Given the description of an element on the screen output the (x, y) to click on. 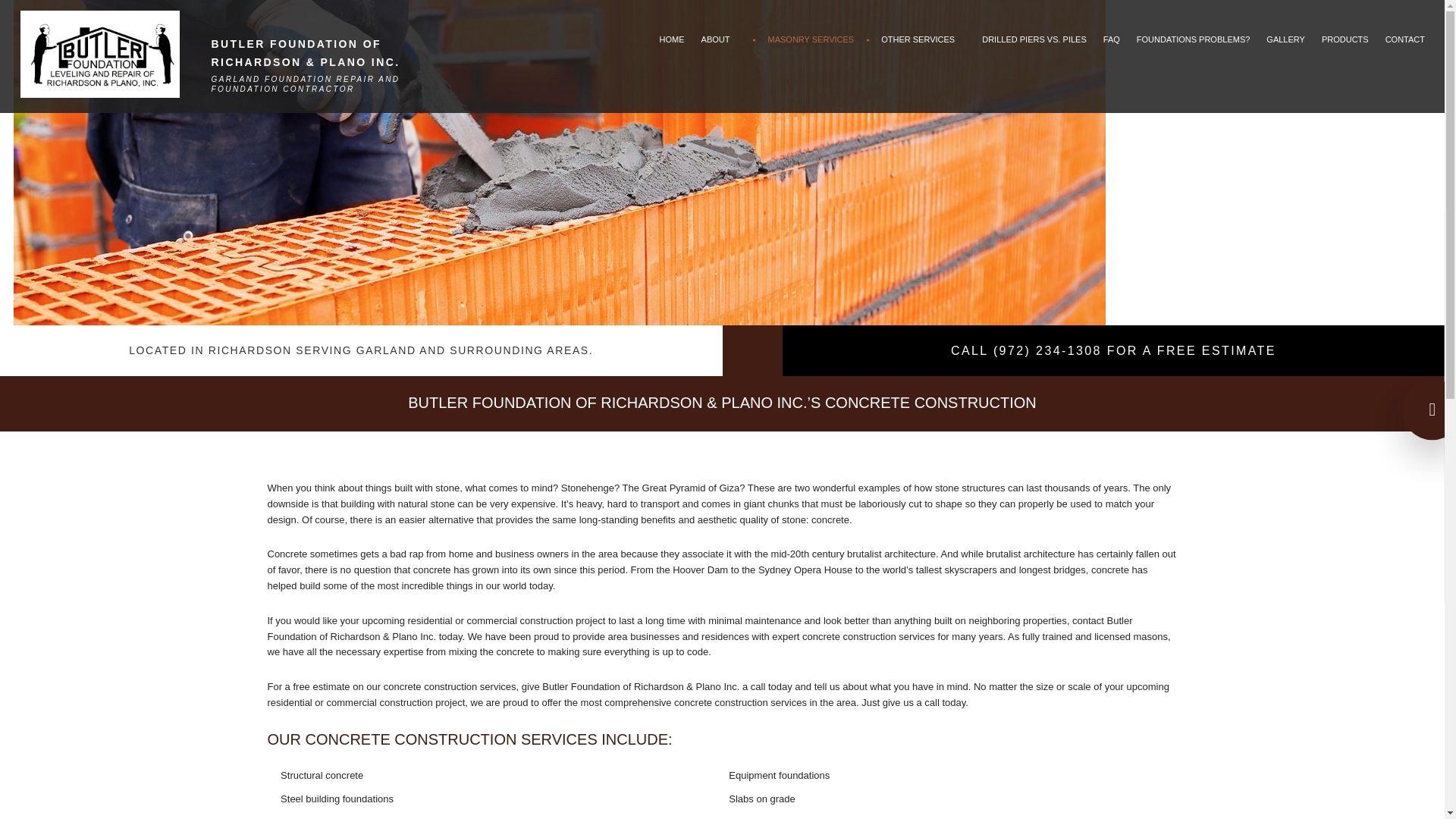
CONCRETE CONSTRUCTION (810, 113)
FOUNDATION REPAIR (922, 159)
CONCRETE COUNTERTOPS (810, 136)
CONCRETE REPAIR (810, 159)
STAINED CONCRETE (810, 272)
Home (340, 45)
MASONRY SERVICES (811, 39)
MASONRY RESTORATION (810, 204)
DRILLED PIERS VS. PILES (1034, 39)
FOUNDATIONS PROBLEMS? (1193, 39)
